Given the description of an element on the screen output the (x, y) to click on. 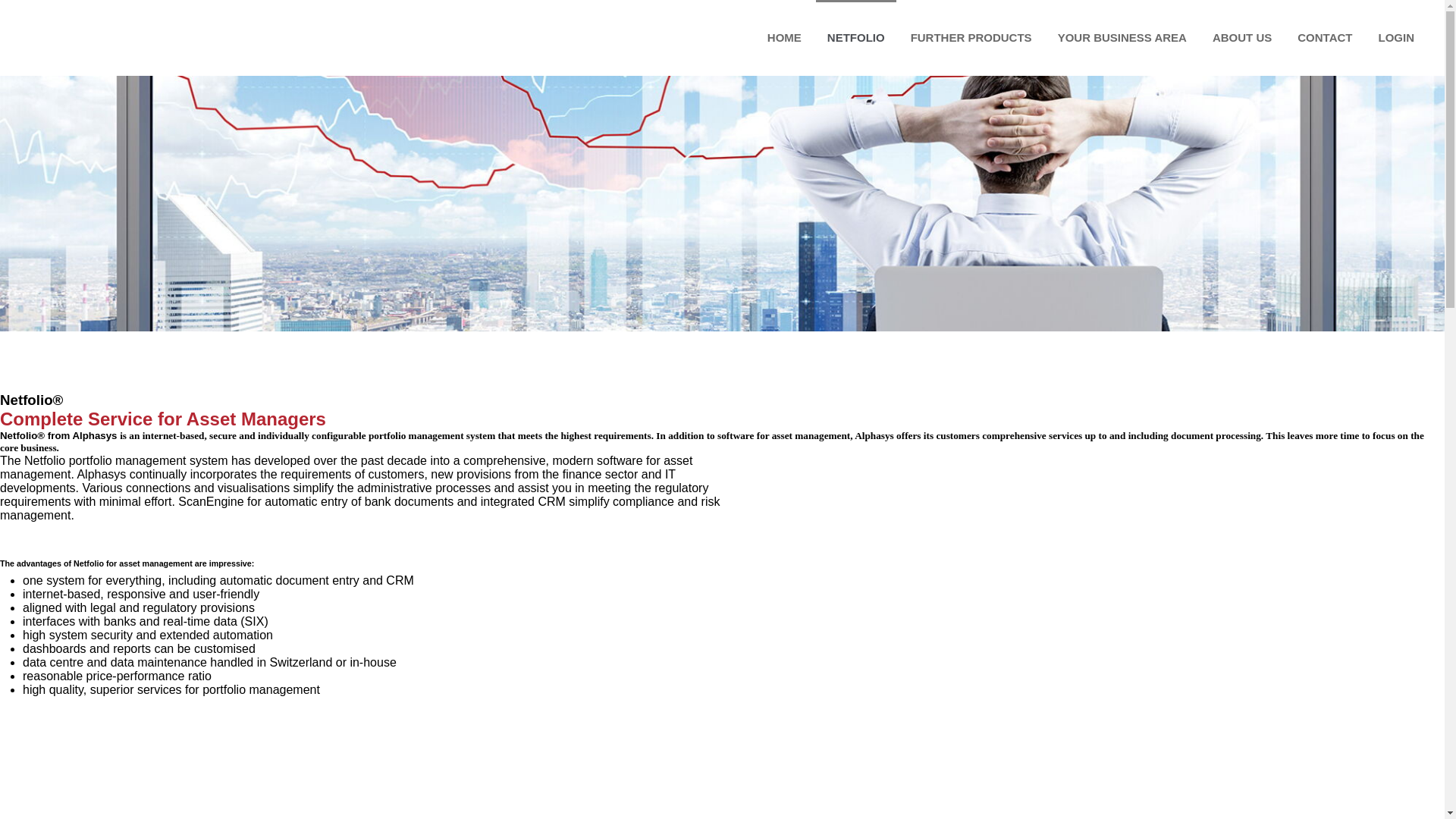
YOUR BUSINESS AREA Element type: text (1122, 37)
LOGIN Element type: text (1390, 37)
FURTHER PRODUCTS Element type: text (971, 37)
HOME Element type: text (784, 37)
ABOUT US Element type: text (1242, 37)
CONTACT Element type: text (1324, 37)
NETFOLIO Element type: text (855, 37)
